Given the description of an element on the screen output the (x, y) to click on. 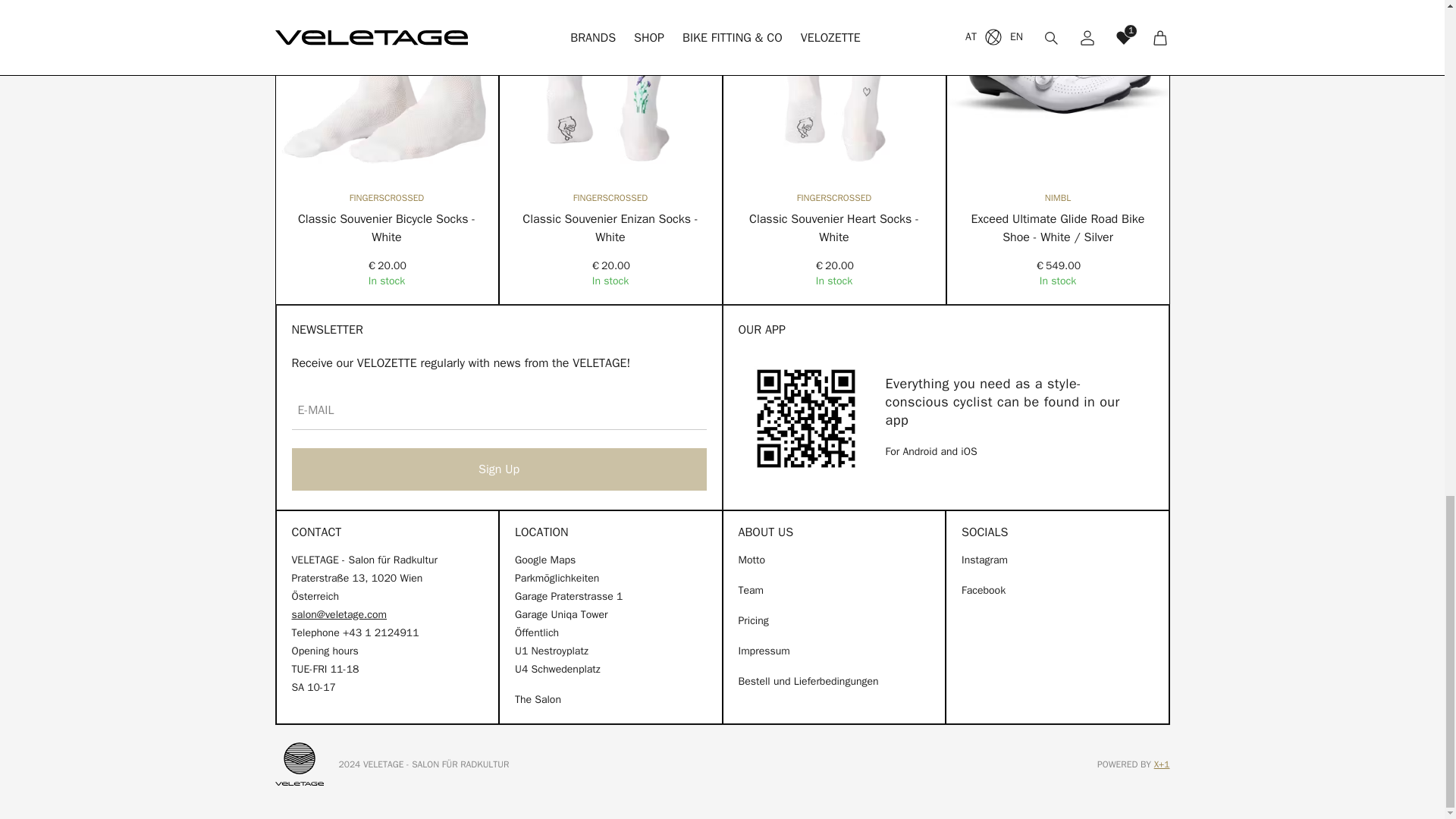
VELETAGE (299, 764)
Garage Praterstrasse 1 (569, 595)
Classic Souvenier Heart Socks - White (834, 227)
Classic Souvenier Enizan Socks - White (609, 227)
Classic Souvenier Bicycle Socks - White (387, 227)
Google Maps (545, 559)
Garage Uniqa Tower (561, 614)
Sign Up (498, 468)
